Given the description of an element on the screen output the (x, y) to click on. 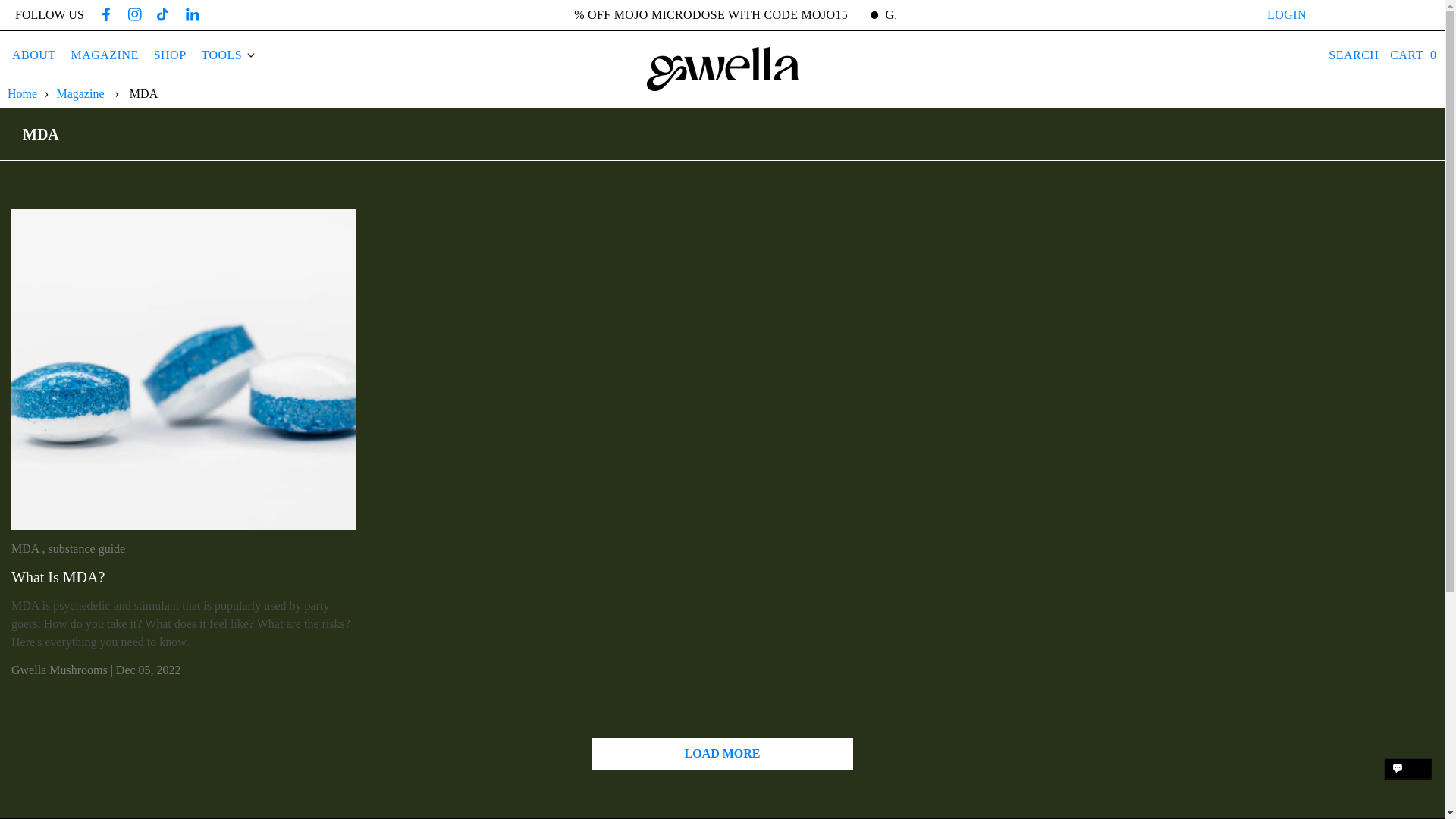
Shopify online store chat (1408, 781)
MAGAZINE (105, 54)
SHOP (170, 54)
Linkedin icon (191, 14)
Linkedin icon (192, 14)
Home (23, 93)
Subscribe (1374, 14)
LOGIN (1286, 14)
ABOUT (34, 54)
